Given the description of an element on the screen output the (x, y) to click on. 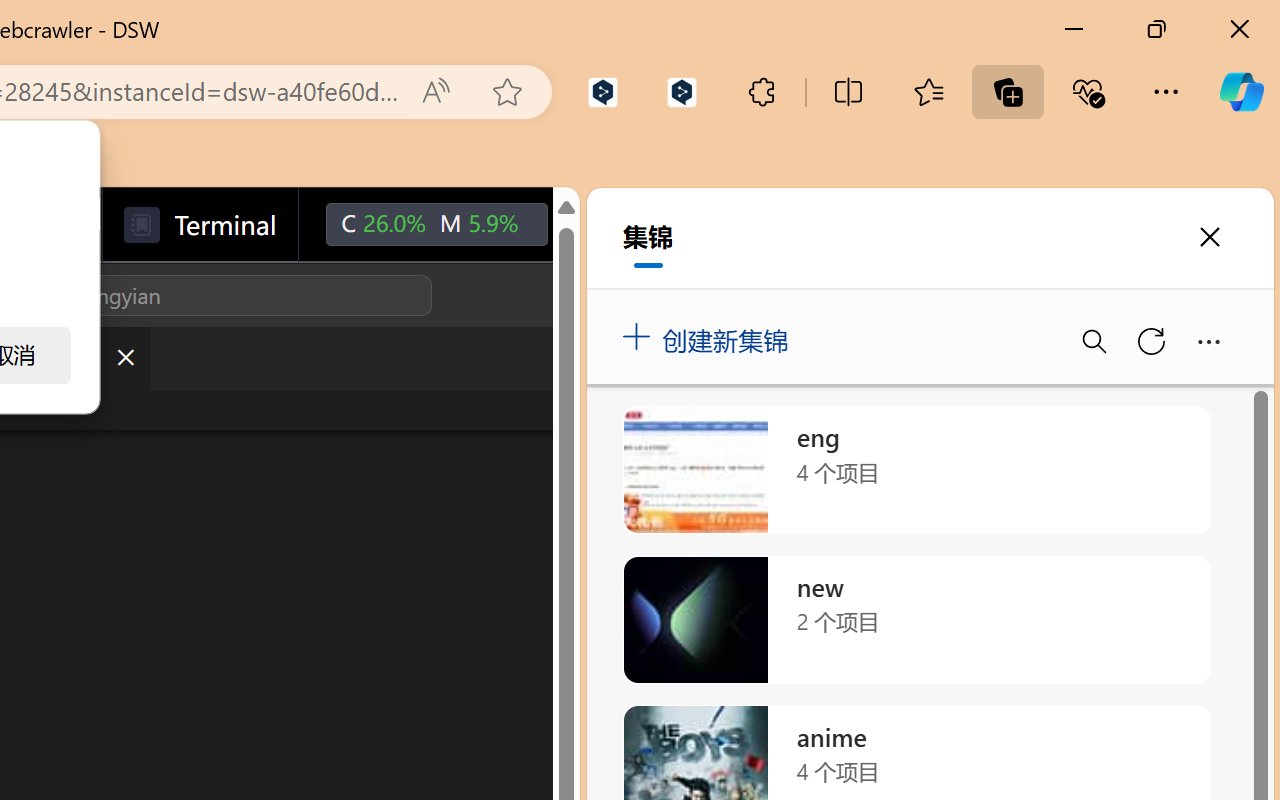
icon (591, 224)
